Given the description of an element on the screen output the (x, y) to click on. 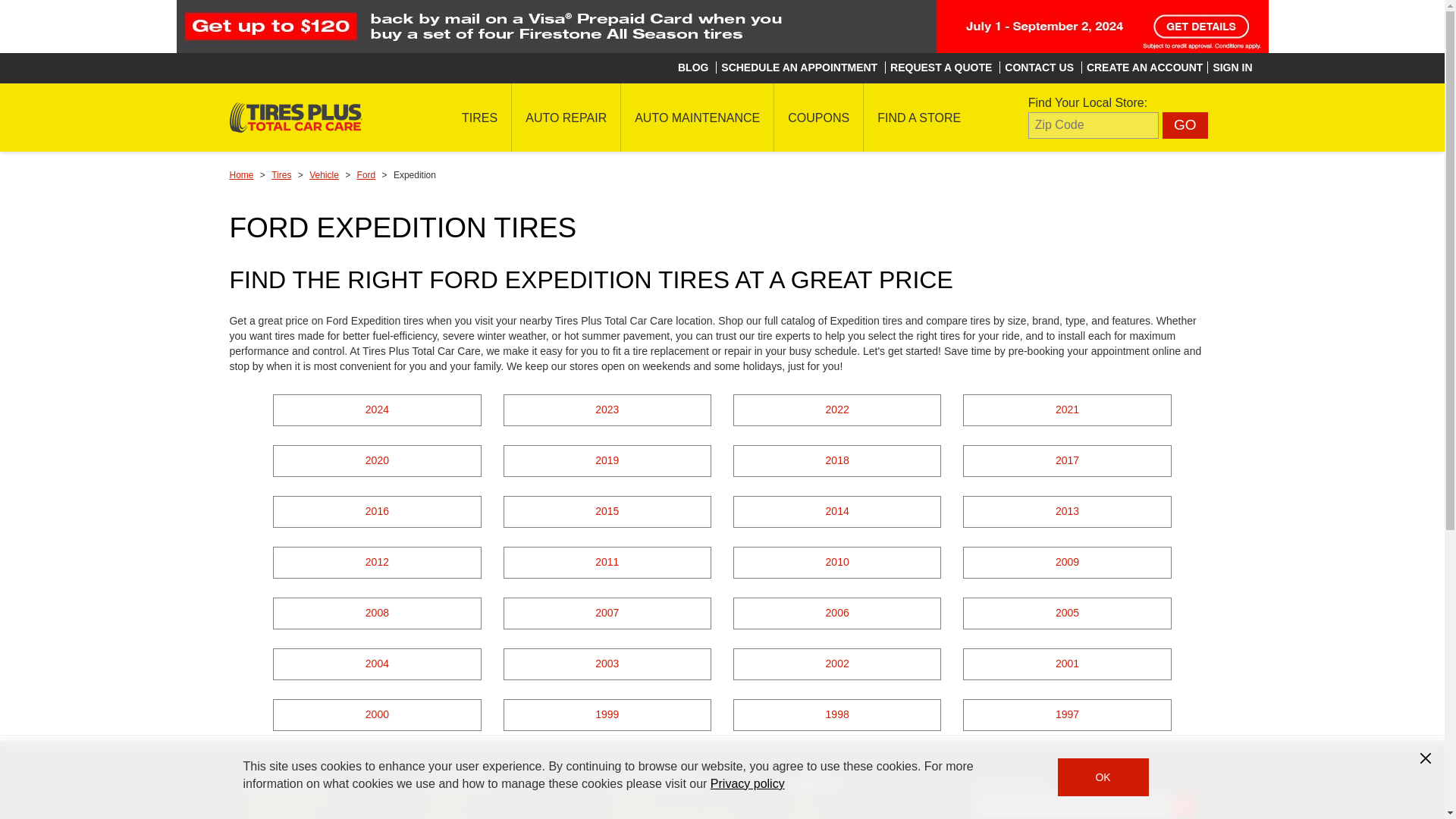
SIGN IN (1231, 67)
Enter Email (1073, 805)
agree button (1102, 777)
CREATE AN ACCOUNT (1144, 67)
AUTO REPAIR (566, 117)
REQUEST A QUOTE (940, 67)
Zip Code (1092, 125)
BLOG (692, 67)
Privacy policy (747, 783)
TIRES (479, 117)
